Given the description of an element on the screen output the (x, y) to click on. 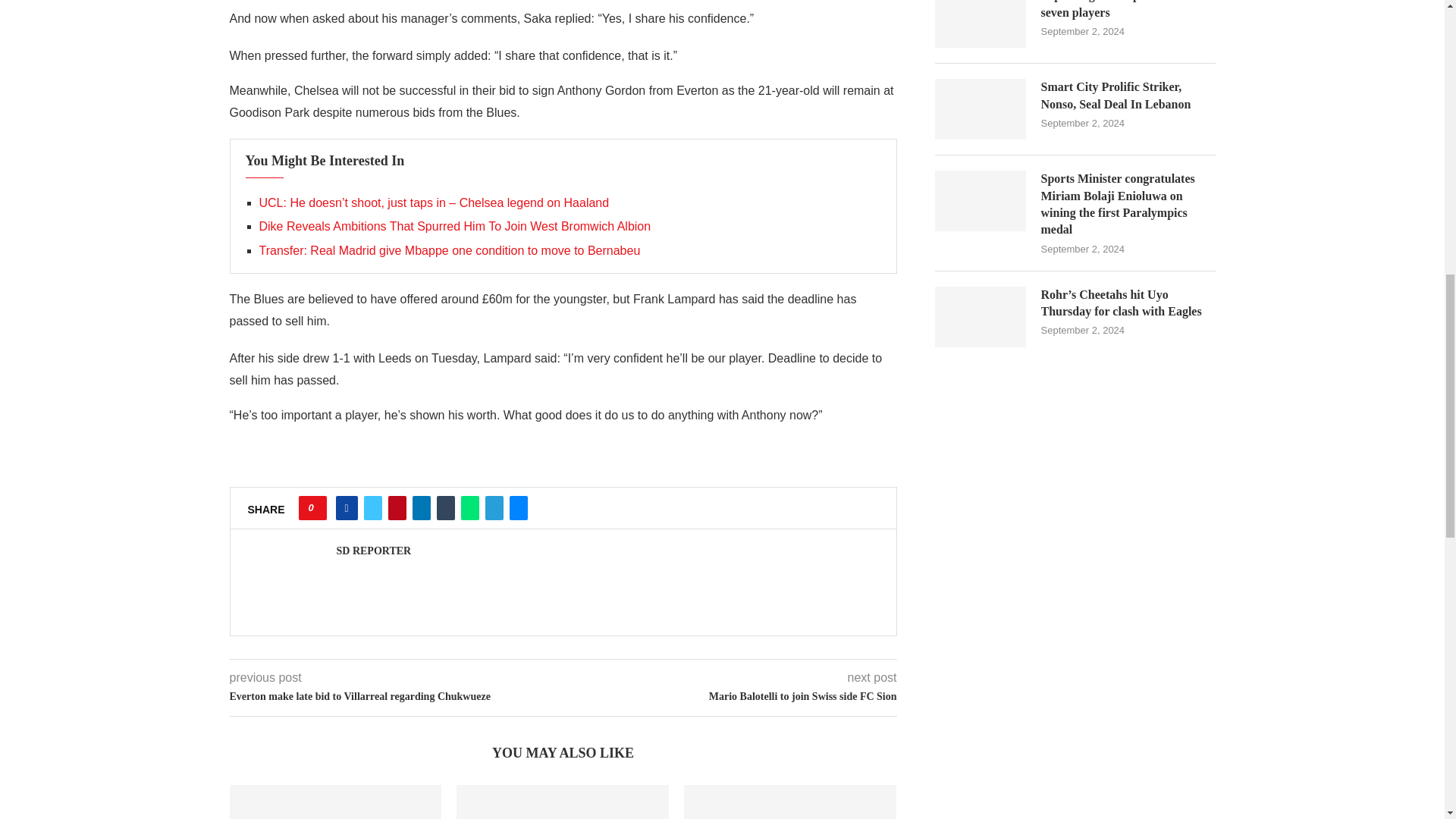
Author SD Reporter (374, 551)
Moses Simon, Raphael Onyedika shine as Napoli bench Osimhen (334, 801)
Super Eagles camp kicks off with seven players (562, 801)
Smart City Prolific Striker, Nonso, Seal Deal In Lebanon (790, 801)
